Given the description of an element on the screen output the (x, y) to click on. 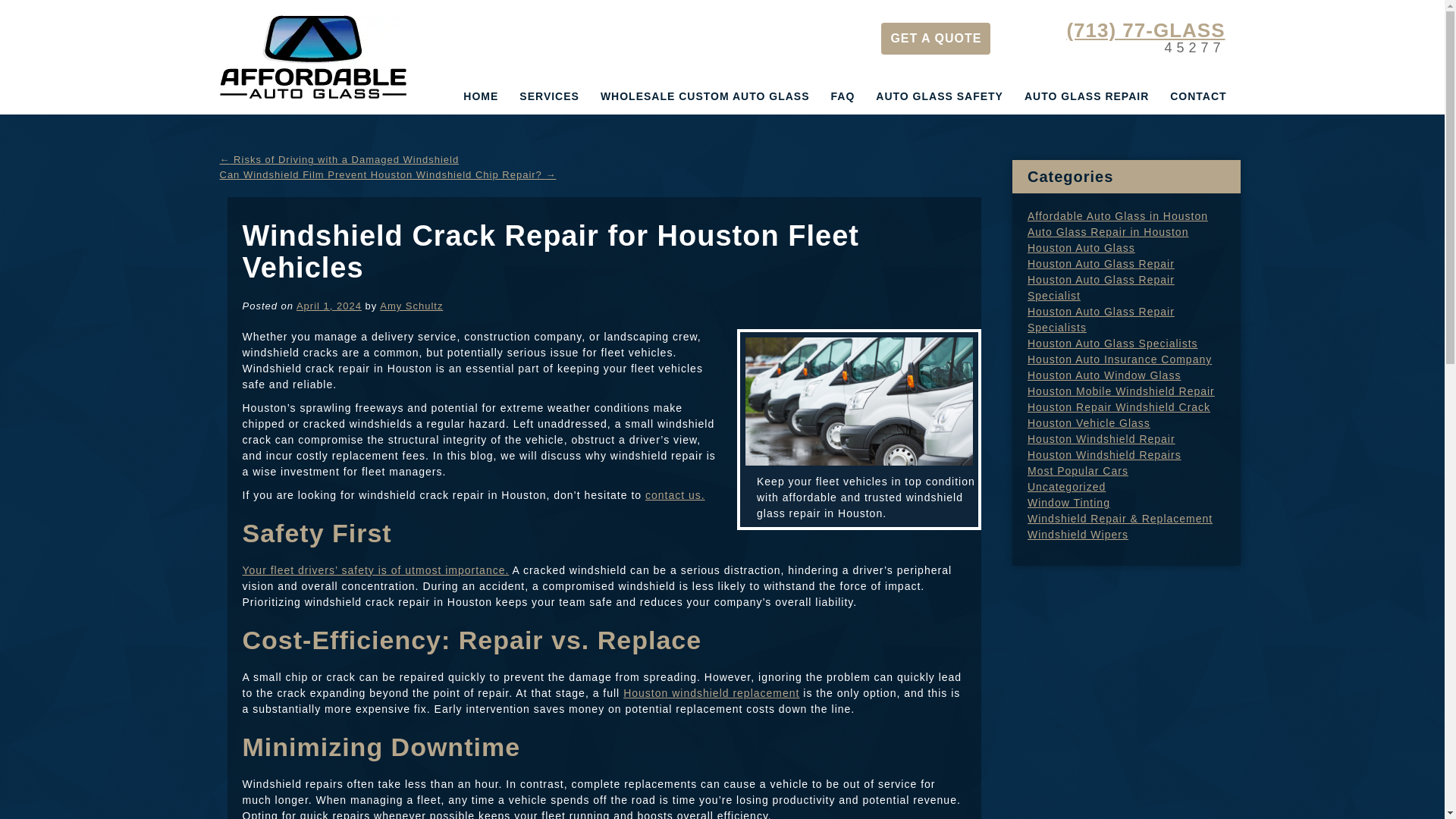
WHOLESALE CUSTOM AUTO GLASS (705, 95)
HOME (480, 95)
SERVICES (548, 95)
GET A QUOTE (935, 38)
Houston windshield replacement (711, 693)
AUTO GLASS SAFETY (938, 95)
10:57 am (329, 306)
FAQ (843, 95)
April 1, 2024 (329, 306)
AUTO GLASS REPAIR (1085, 95)
CONTACT (1197, 95)
View all posts by Amy Schultz (411, 306)
contact us. (674, 494)
Amy Schultz (411, 306)
